Given the description of an element on the screen output the (x, y) to click on. 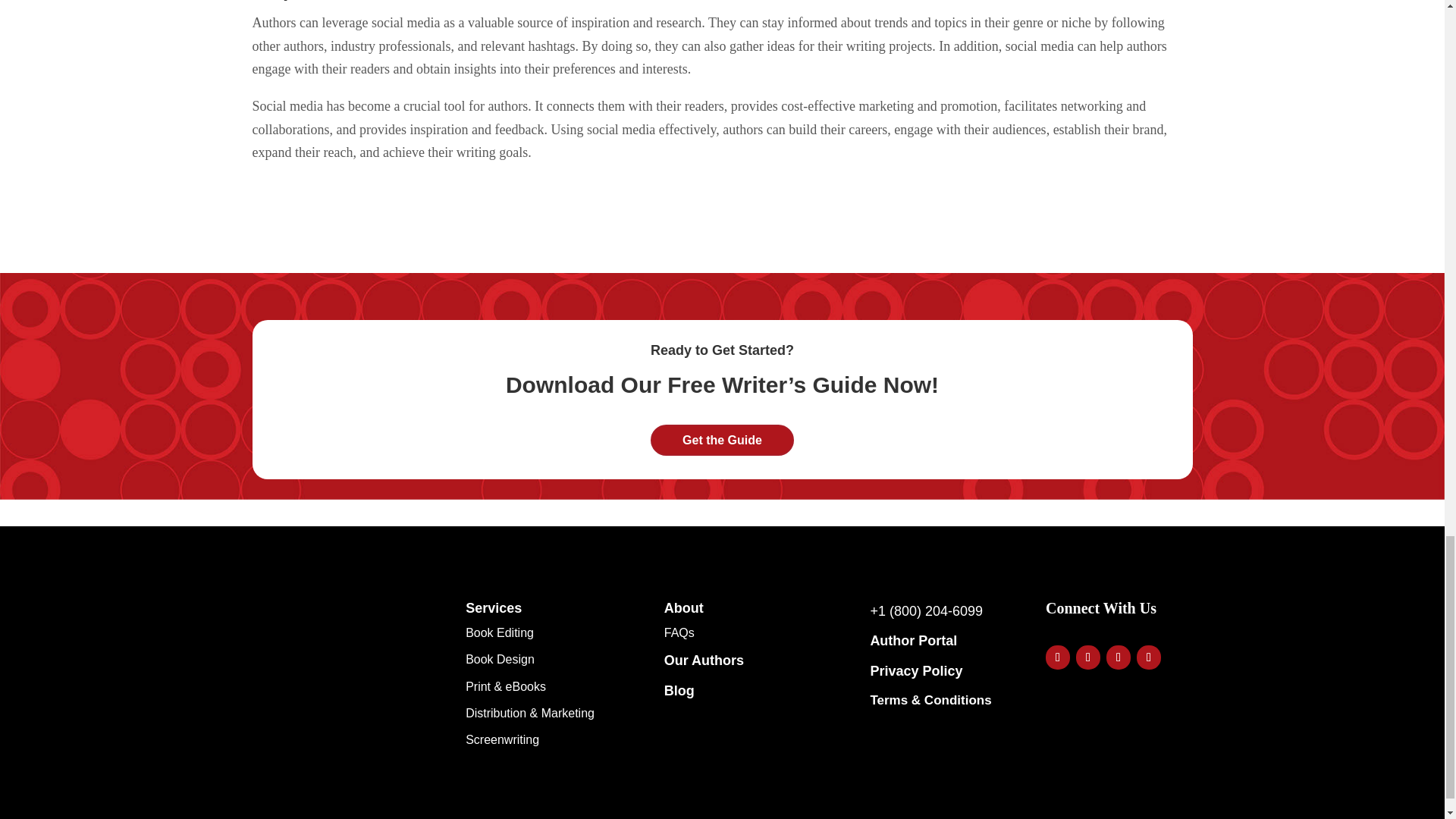
Follow on Pinterest (1148, 657)
Follow on Facebook (1057, 657)
Follow on Twitter (1087, 657)
Follow on Youtube (1118, 657)
